Given the description of an element on the screen output the (x, y) to click on. 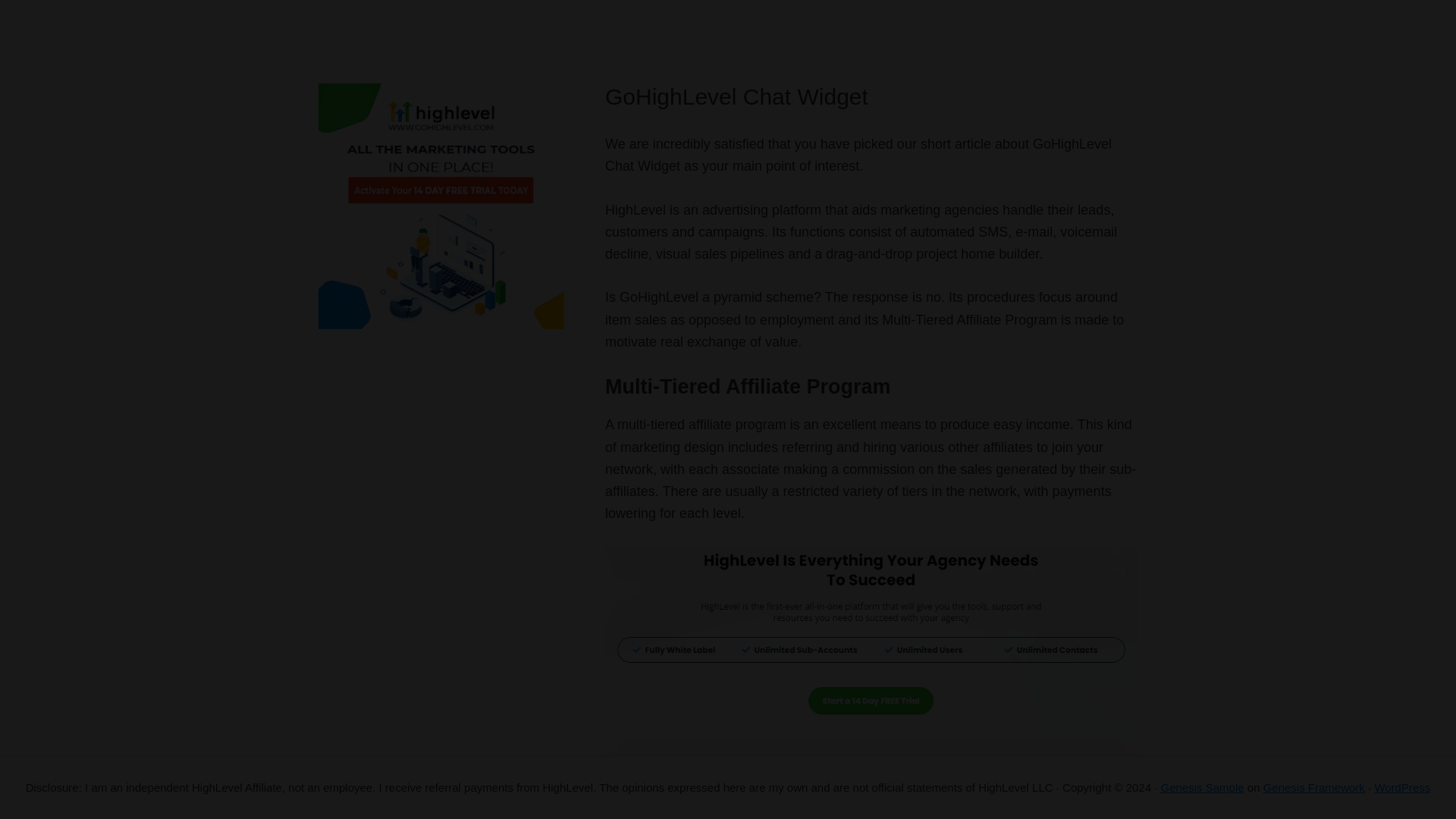
Genesis Sample (1202, 787)
Genesis Framework (1314, 787)
WordPress (1401, 787)
